Given the description of an element on the screen output the (x, y) to click on. 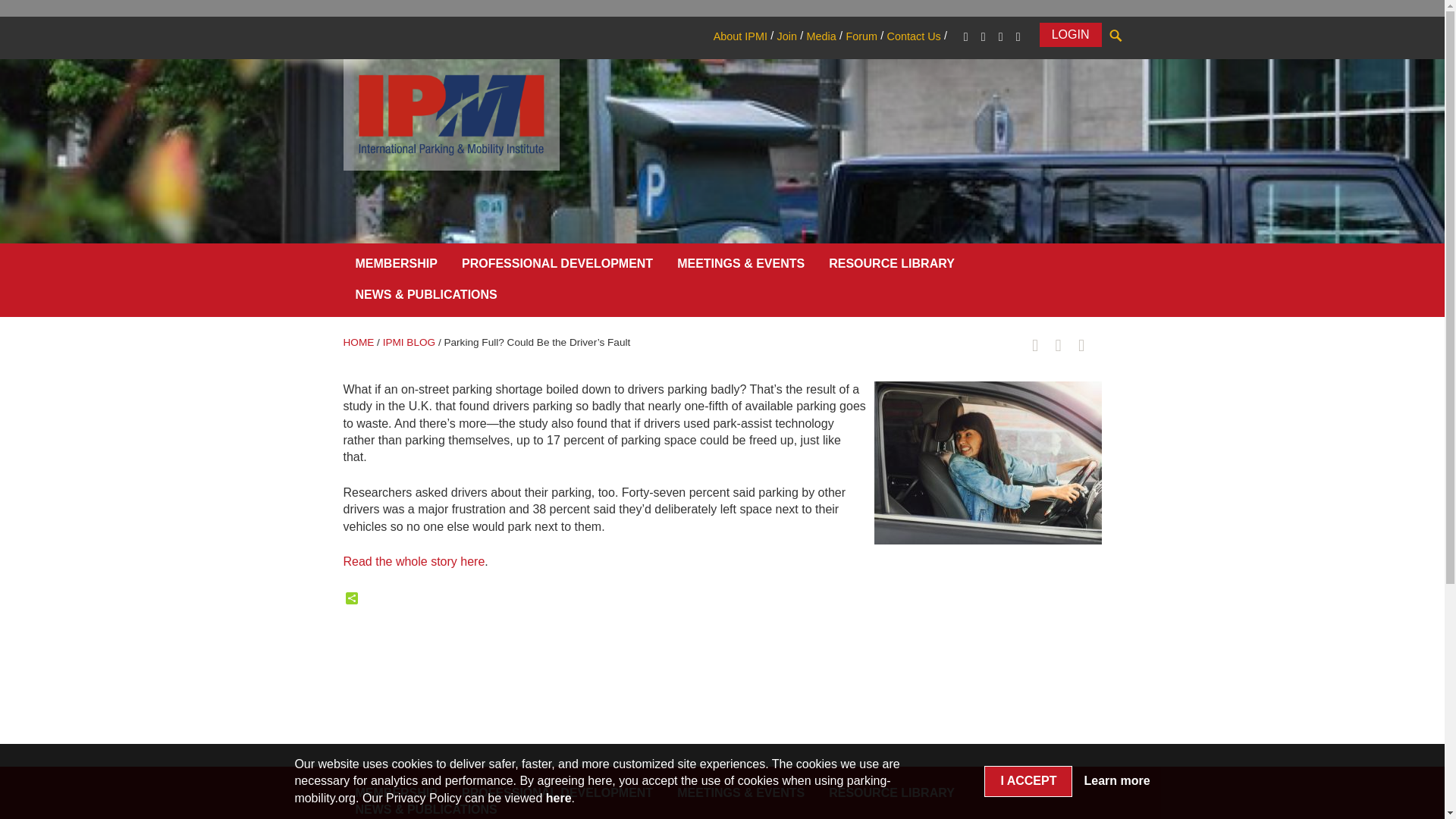
Media (821, 36)
LOGIN (1070, 34)
Go to the IPMI Blog category archives. (408, 342)
About IPMI (740, 36)
Join (786, 36)
PROFESSIONAL DEVELOPMENT (557, 266)
Forum (861, 36)
MEMBERSHIP (395, 266)
RESOURCE LIBRARY (891, 266)
Contact Us (913, 36)
IPMI (450, 113)
